Given the description of an element on the screen output the (x, y) to click on. 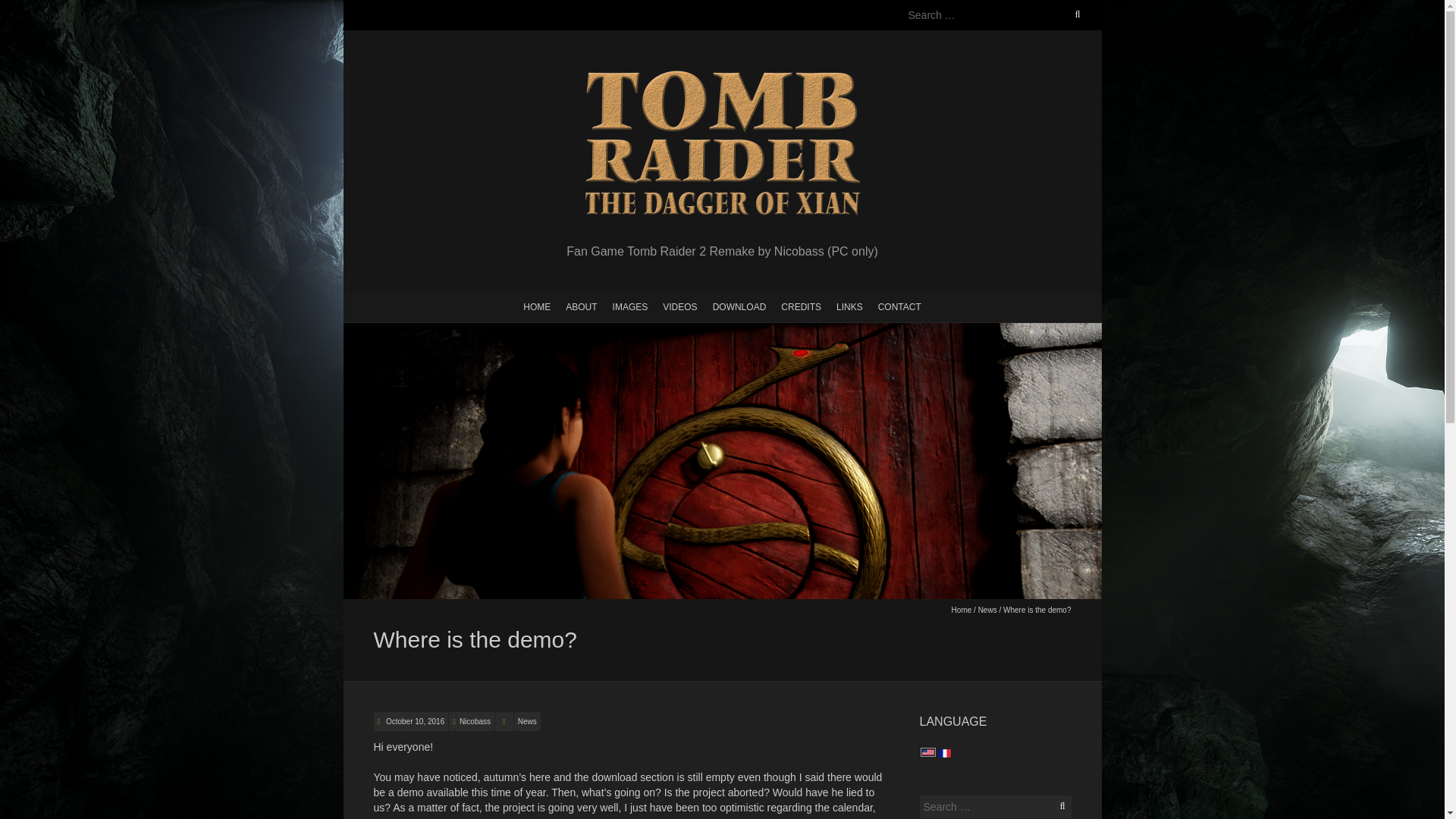
Where is the demo? (414, 721)
English (927, 753)
VIDEOS (679, 306)
HOME (536, 306)
News (987, 610)
Home (962, 610)
View all posts by Nicobass (475, 721)
CONTACT (899, 306)
News (526, 721)
Category (504, 721)
